Given the description of an element on the screen output the (x, y) to click on. 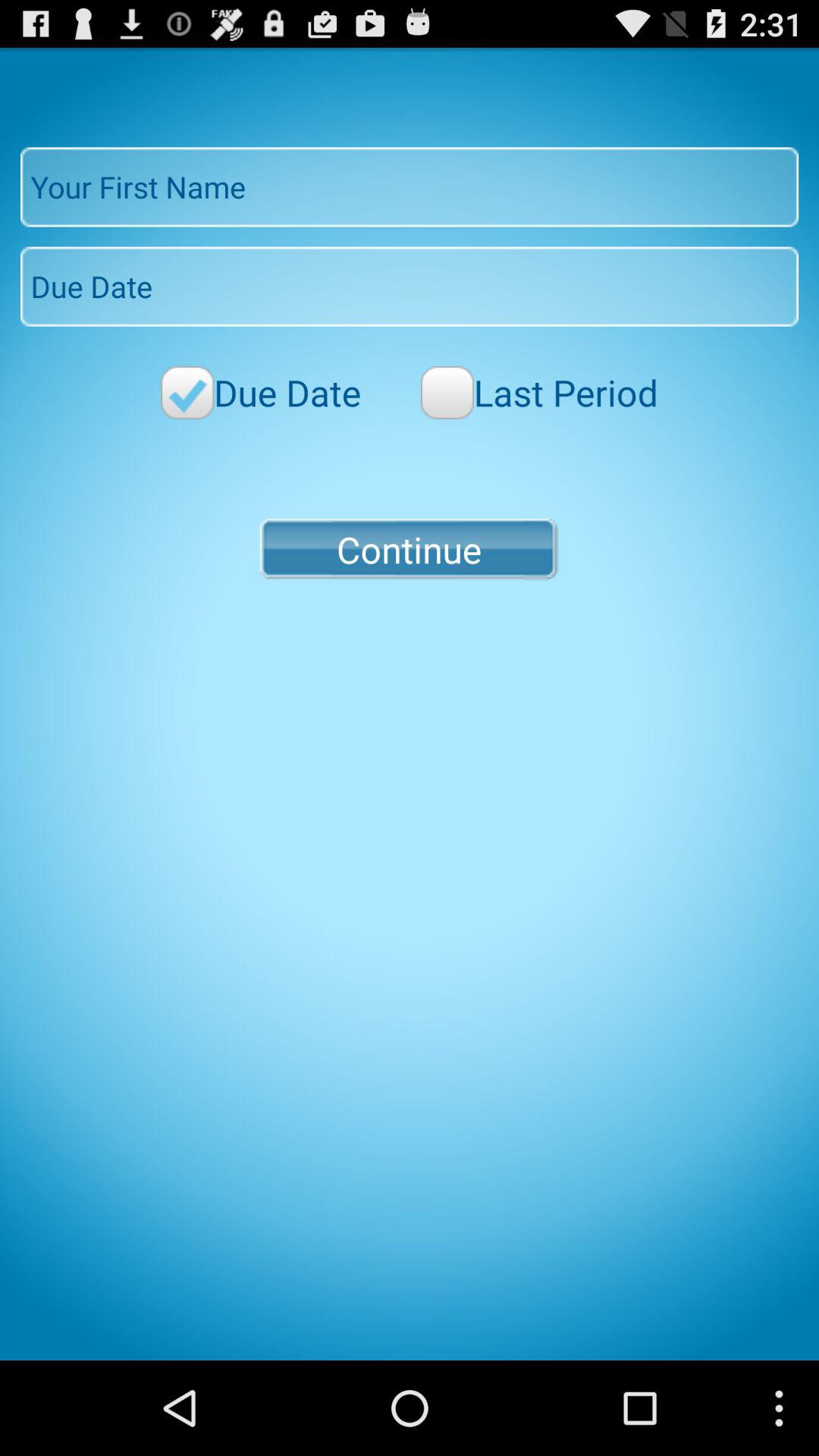
press last period (539, 392)
